Given the description of an element on the screen output the (x, y) to click on. 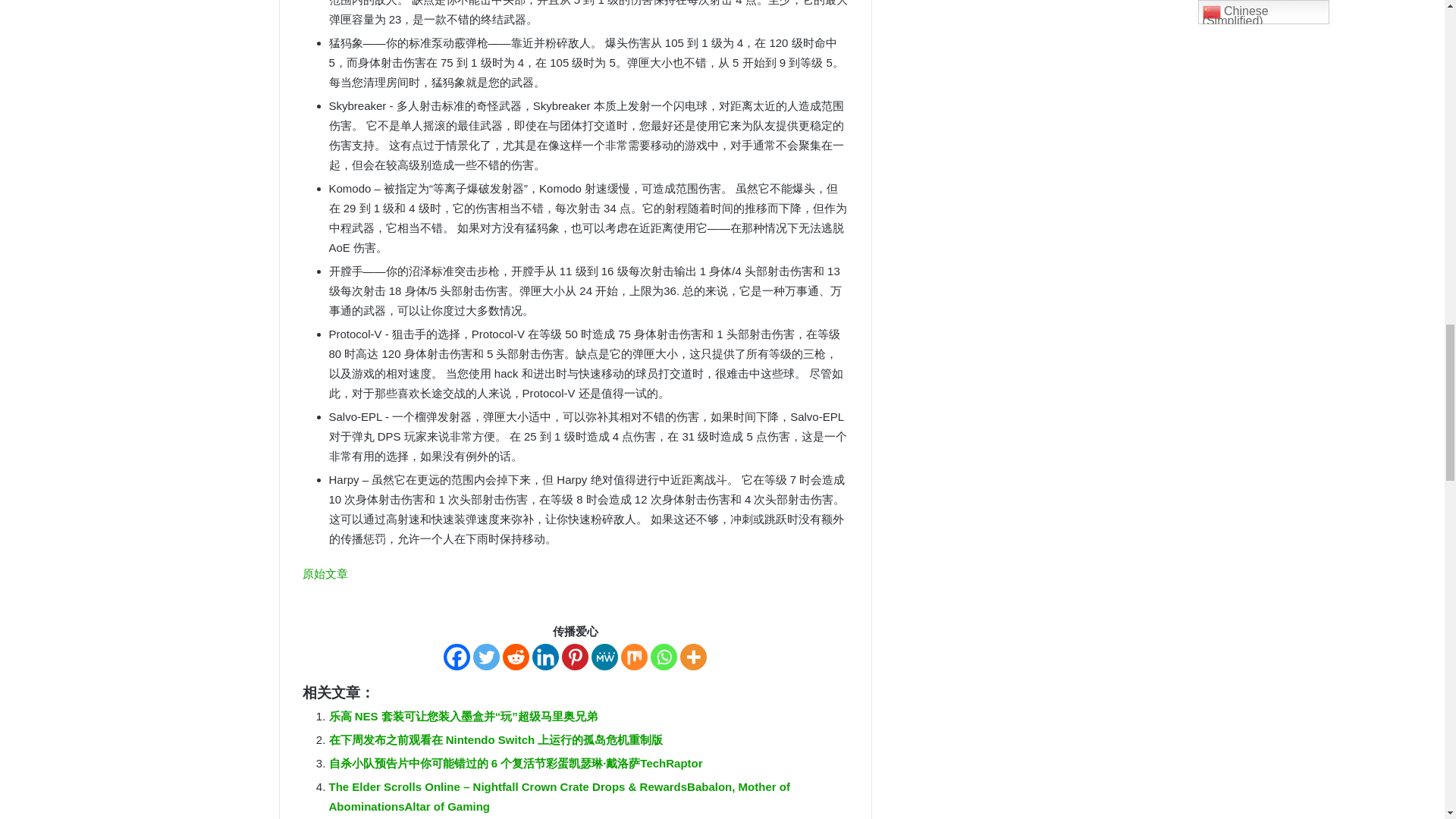
Twitter (486, 656)
Facebook (457, 656)
